Given the description of an element on the screen output the (x, y) to click on. 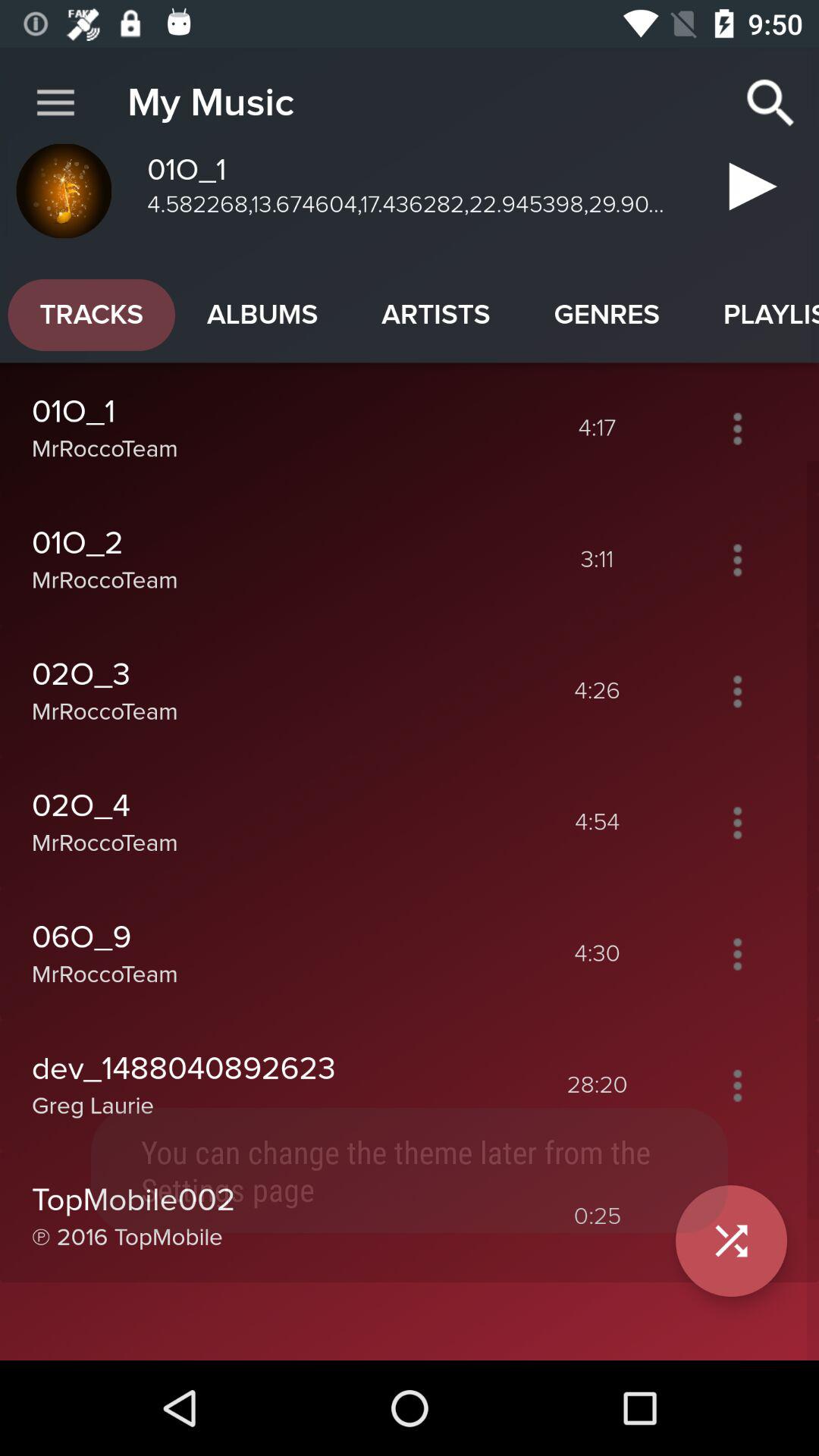
select icon next to my music (55, 103)
